Given the description of an element on the screen output the (x, y) to click on. 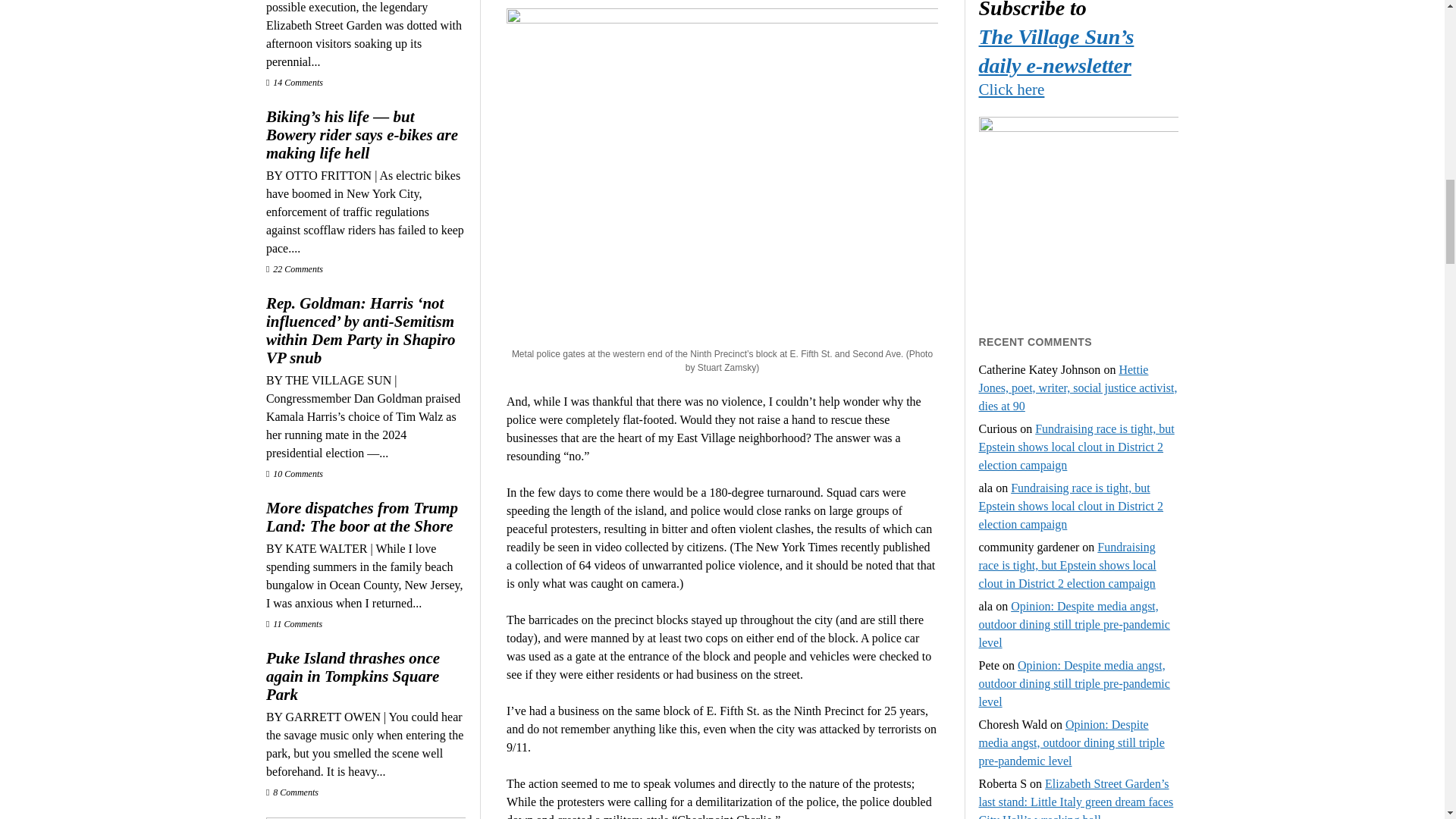
10 Comments (294, 473)
11 Comments (293, 624)
More dispatches from Trump Land: The boor at the Shore (365, 516)
Puke Island thrashes once again in Tompkins Square Park  (365, 676)
14 Comments (294, 81)
8 Comments (292, 792)
22 Comments (294, 268)
